Given the description of an element on the screen output the (x, y) to click on. 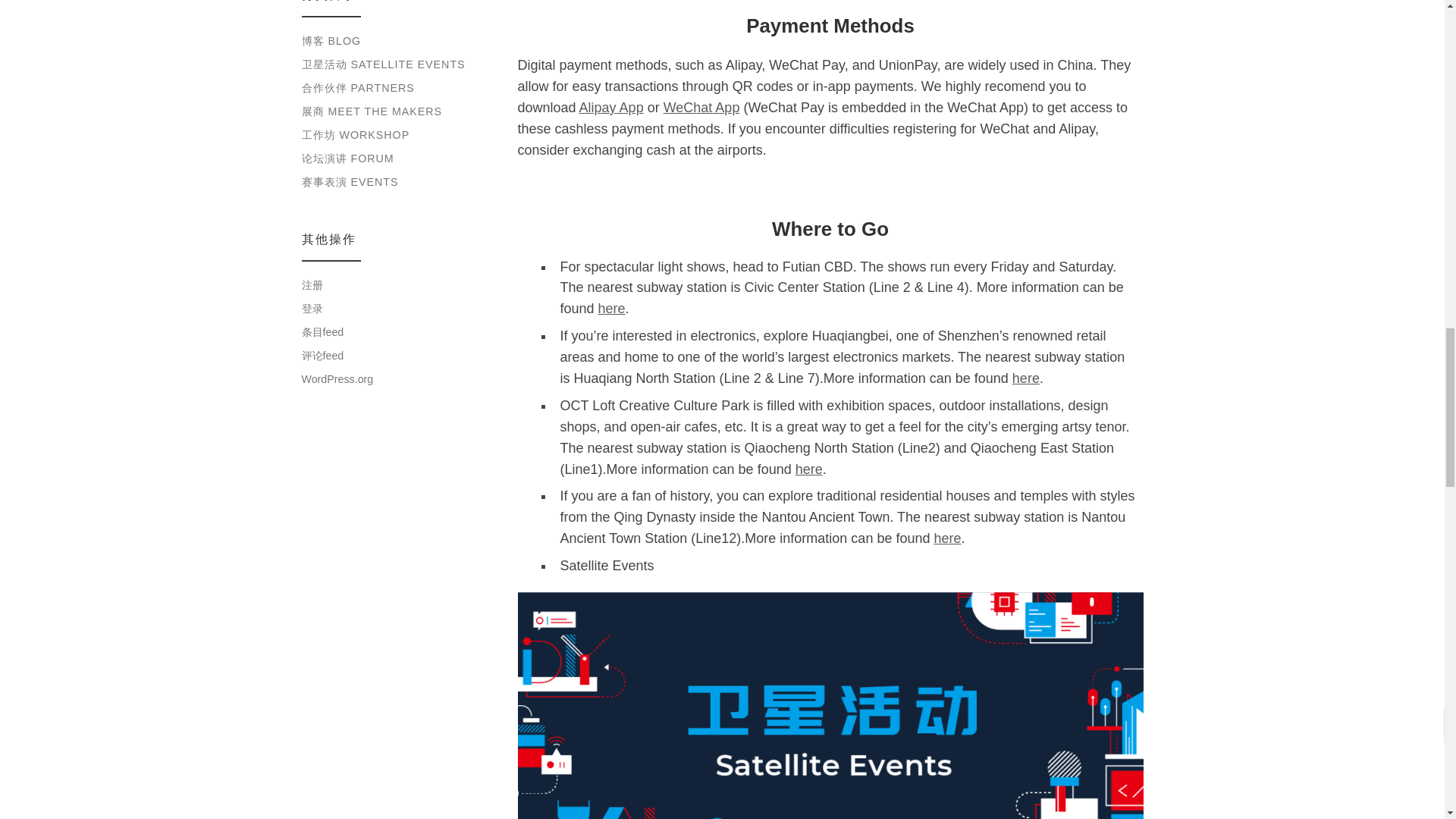
WeChat App (701, 107)
here (1025, 378)
here (808, 468)
here (612, 308)
Alipay App (611, 107)
here (946, 538)
